Given the description of an element on the screen output the (x, y) to click on. 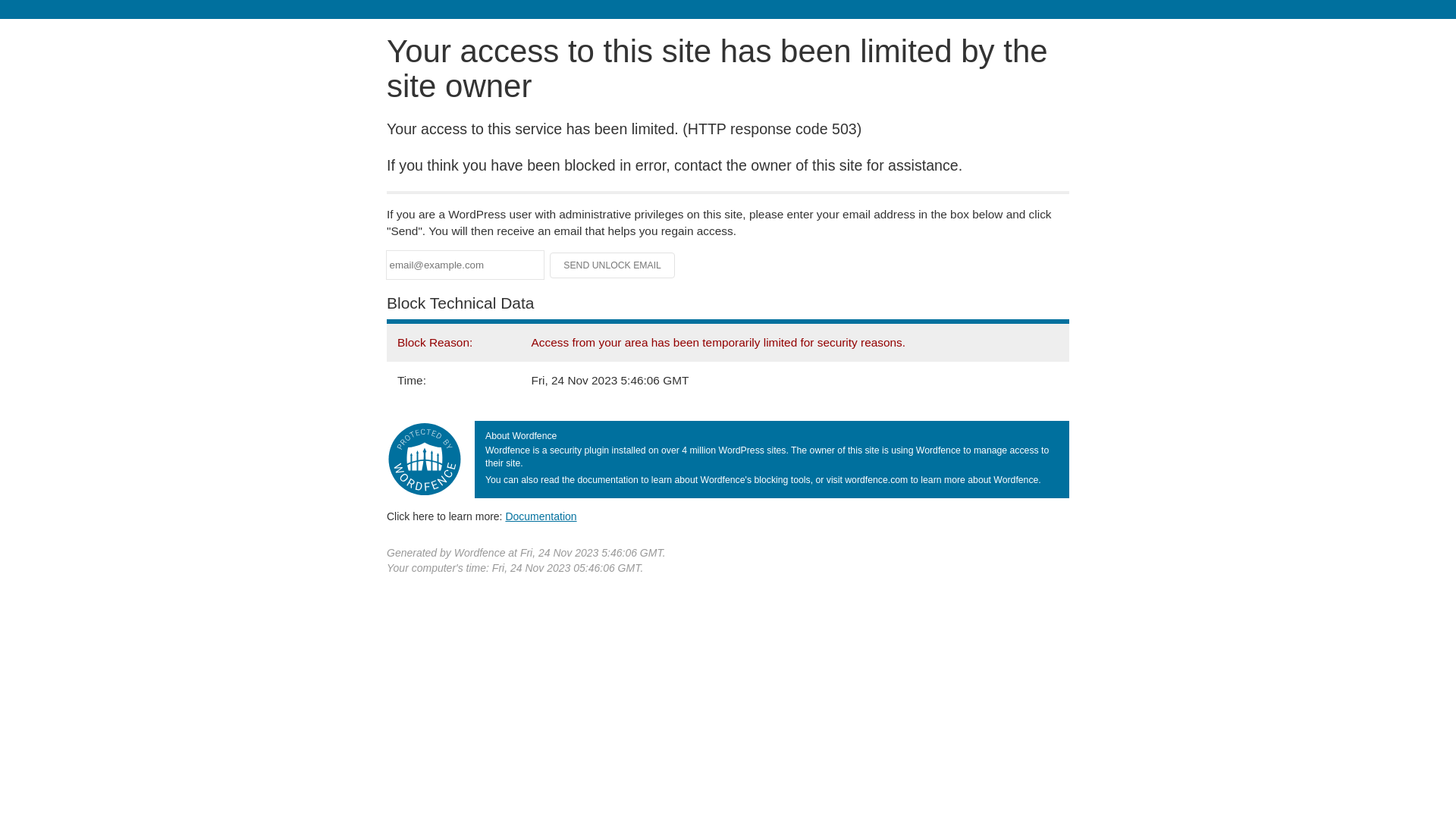
Send Unlock Email Element type: text (612, 265)
Documentation Element type: text (540, 516)
